Given the description of an element on the screen output the (x, y) to click on. 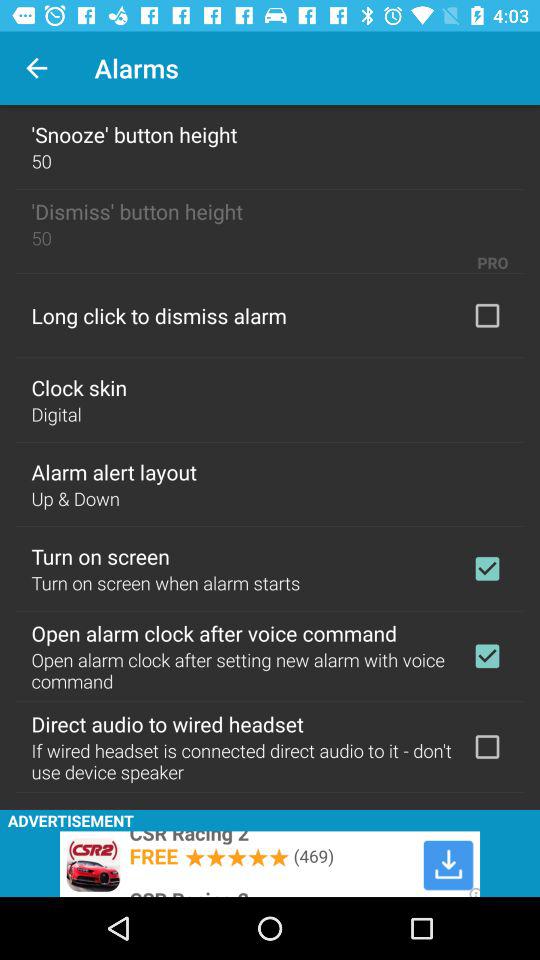
settings (487, 747)
